Given the description of an element on the screen output the (x, y) to click on. 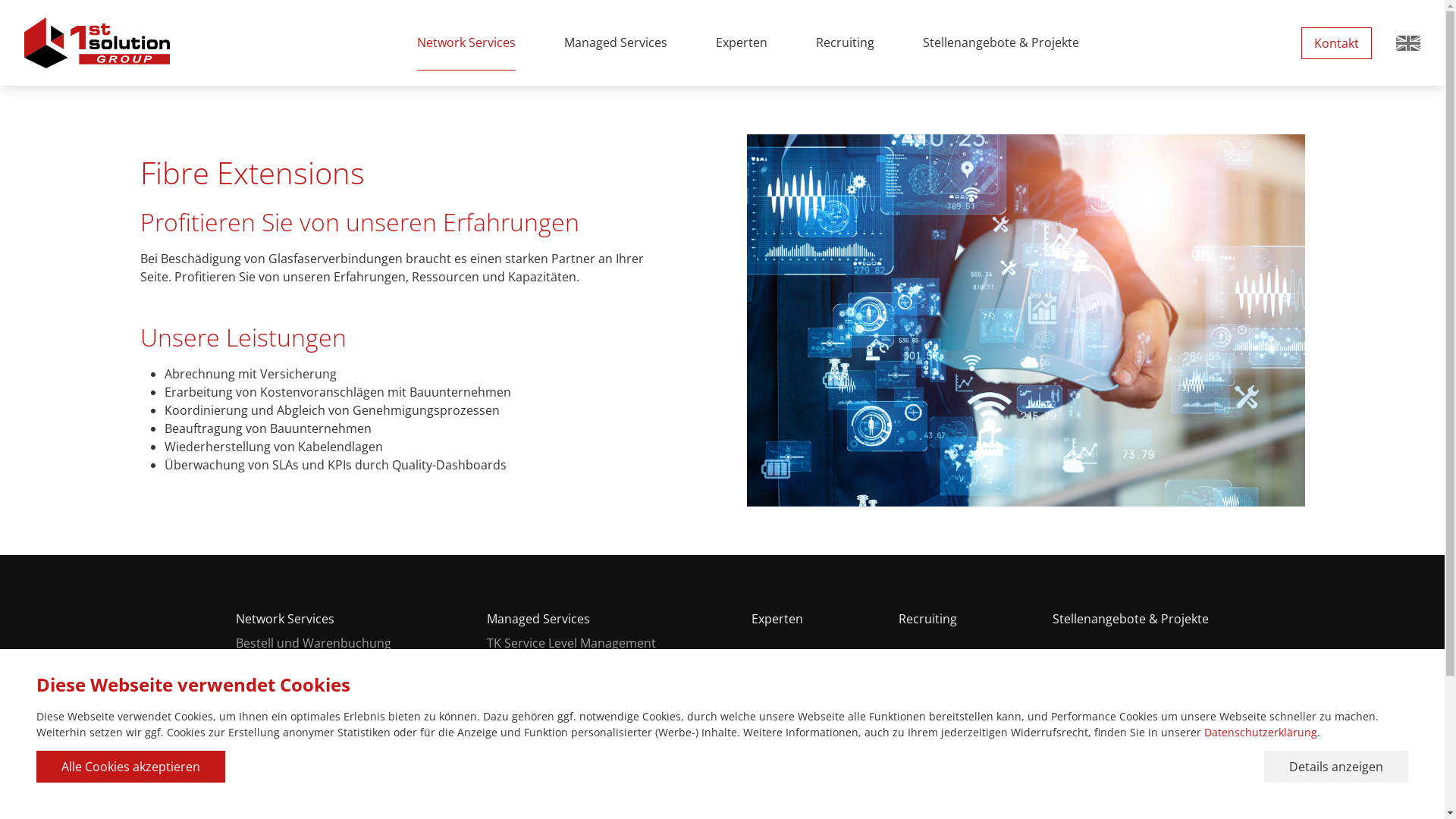
Fibre Extensions Element type: text (313, 714)
Details anzeigen Element type: text (1336, 766)
Network Services Element type: text (313, 618)
GIS Planung Element type: text (313, 780)
Alle Cookies akzeptieren Element type: text (130, 766)
Recruiting Element type: text (844, 42)
Managed Services Element type: text (615, 42)
Bestell und Warenbuchung Element type: text (313, 647)
Stellenangebote & Projekte Element type: text (1000, 42)
Projekt Management Office Element type: text (570, 714)
Recruiting Element type: text (927, 618)
Cable Rollout Element type: text (313, 747)
Escalation Management Element type: text (570, 780)
Stellenangebote & Projekte Element type: text (1130, 618)
Experten Element type: text (741, 42)
Fibre Rollout / Dark Fibre Element type: text (313, 680)
Kontakt Element type: text (1336, 43)
Backoffice Element type: text (570, 747)
Experten Element type: text (777, 618)
Managed Services Element type: text (570, 618)
TK Service Level Management Element type: text (570, 647)
TK Projekt Management Element type: text (570, 680)
Network Services Element type: text (466, 42)
English Element type: hover (1408, 42)
